Given the description of an element on the screen output the (x, y) to click on. 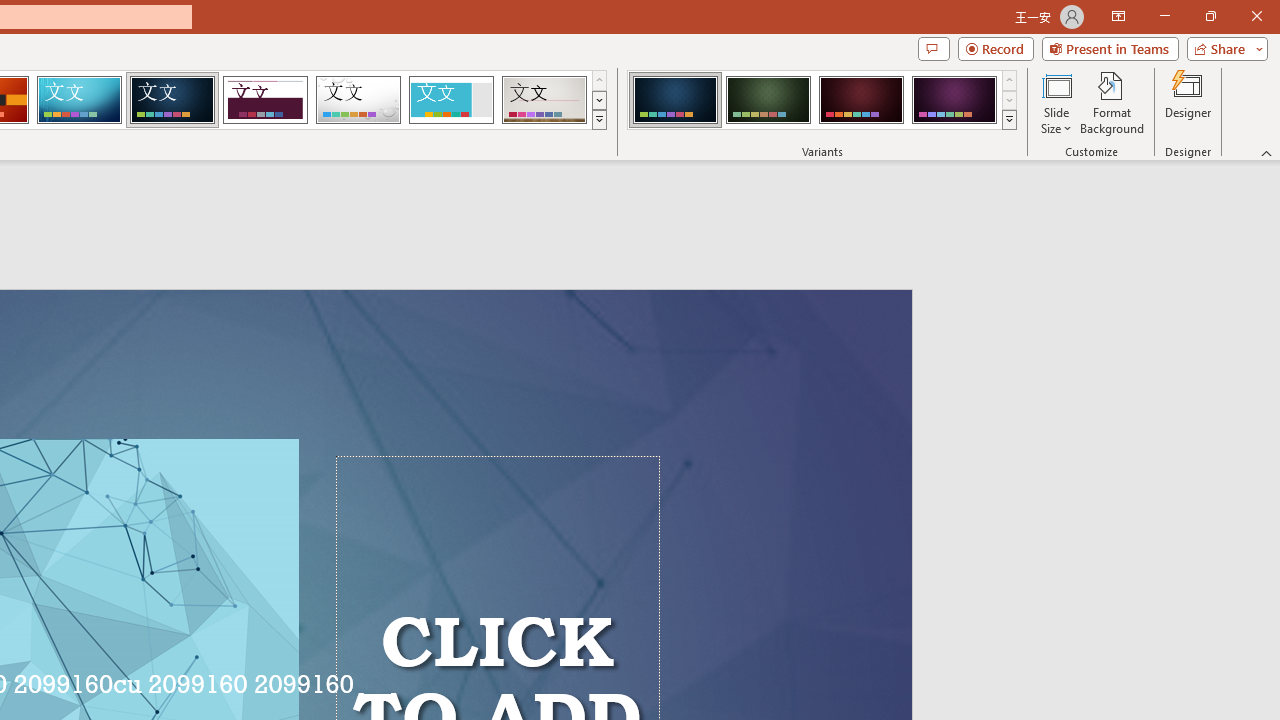
Droplet (358, 100)
Damask Variant 3 (861, 100)
AutomationID: ThemeVariantsGallery (822, 99)
Damask (171, 100)
Frame (450, 100)
